Given the description of an element on the screen output the (x, y) to click on. 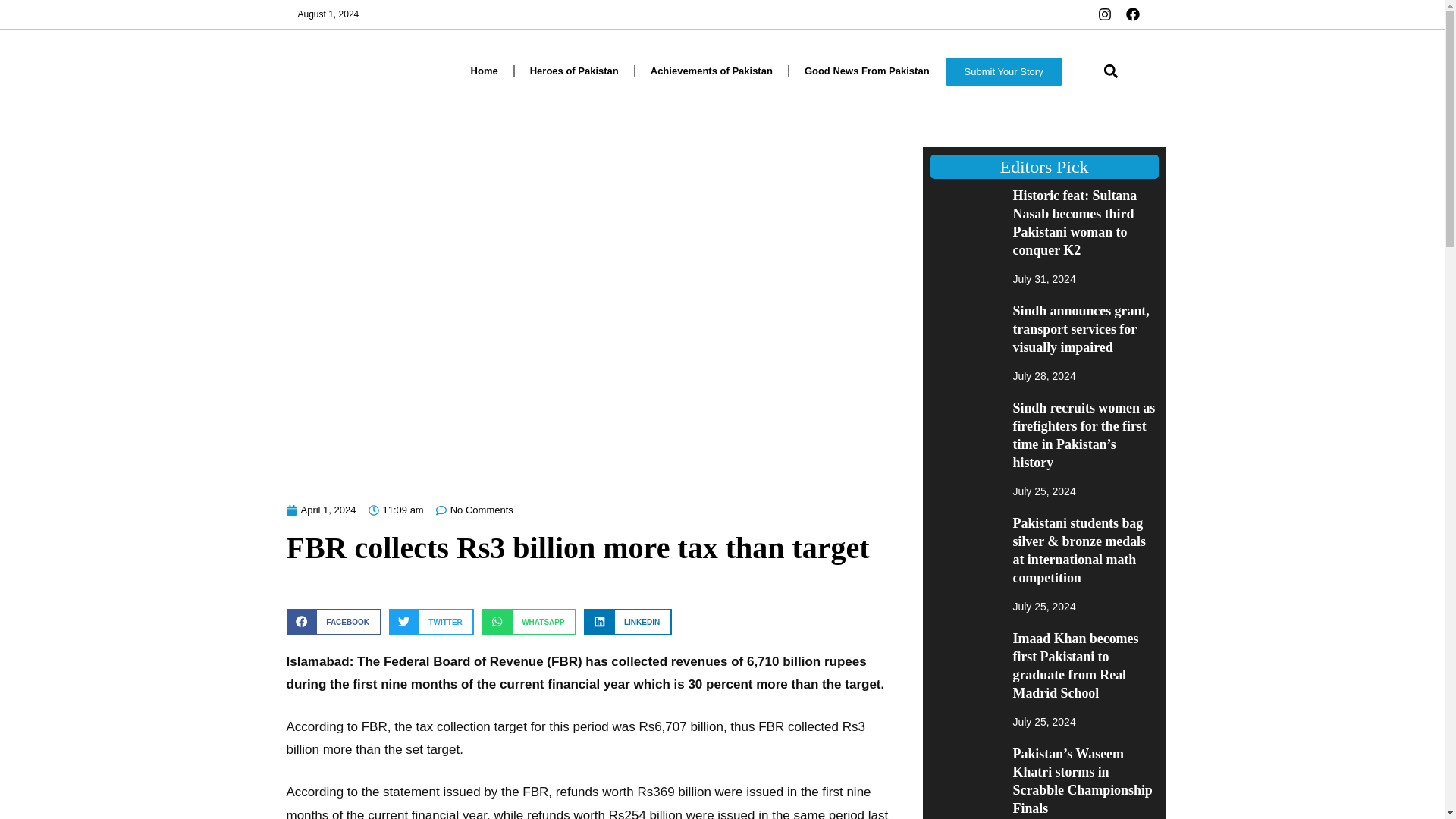
Good News From Pakistan (866, 71)
Submit Your Story (1003, 71)
Achievements of Pakistan (710, 71)
Home (484, 71)
Heroes of Pakistan (574, 71)
No Comments (474, 509)
April 1, 2024 (321, 509)
